Given the description of an element on the screen output the (x, y) to click on. 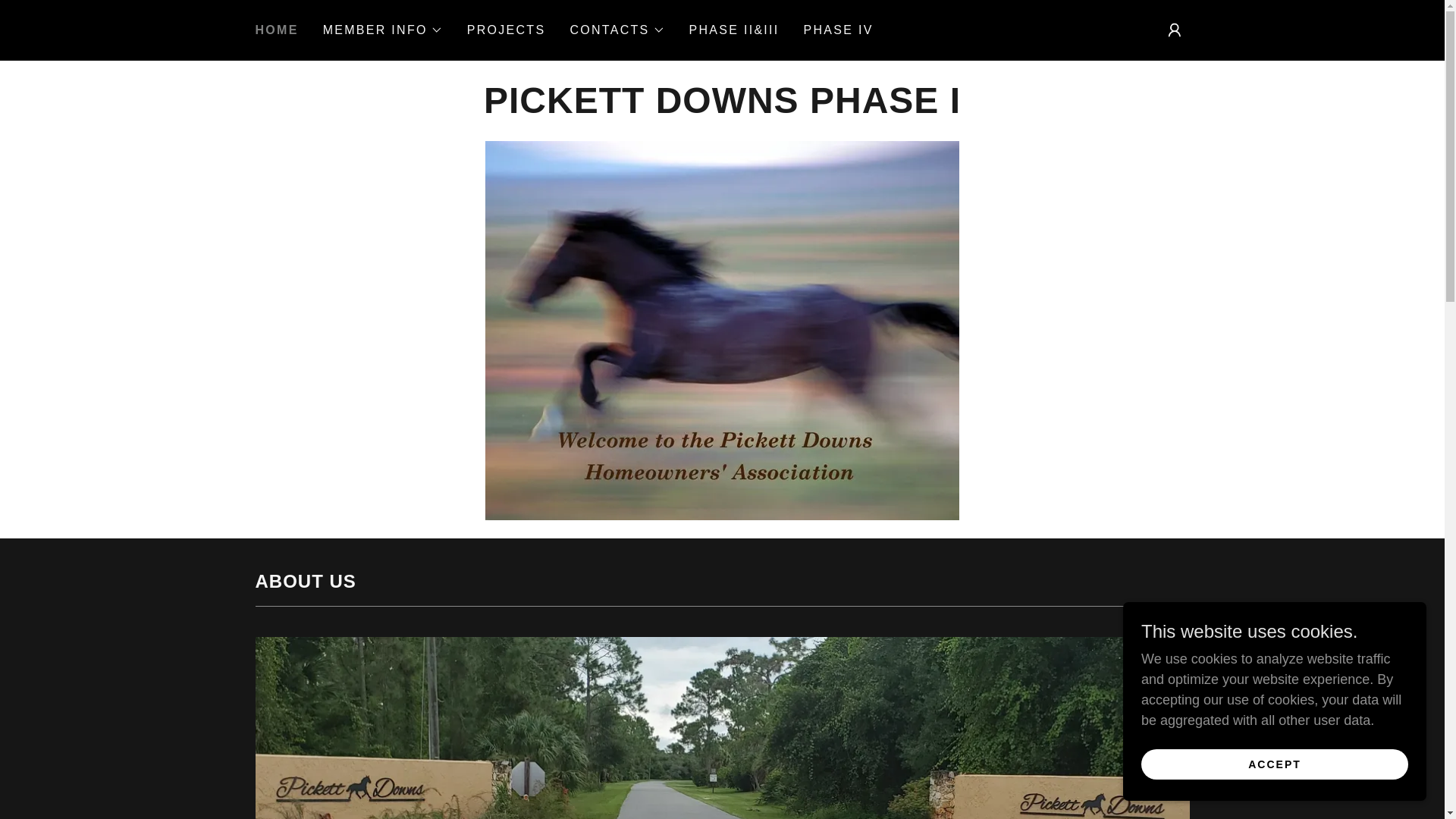
PROJECTS (506, 30)
PHASE IV (838, 30)
Pickett Downs Phase I (721, 108)
HOME (276, 30)
MEMBER INFO (382, 30)
CONTACTS (616, 30)
